Given the description of an element on the screen output the (x, y) to click on. 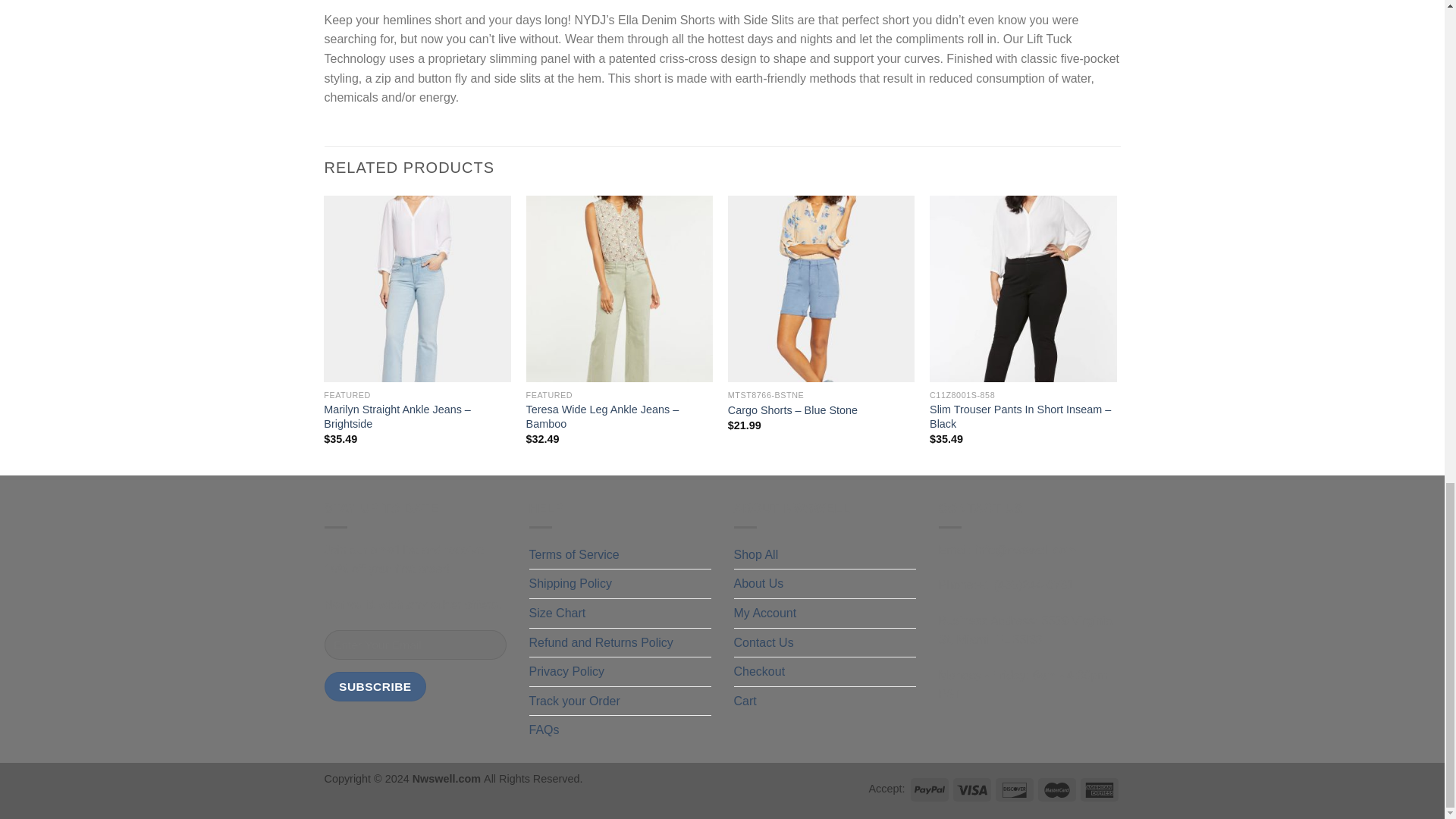
Subscribe (375, 686)
